Given the description of an element on the screen output the (x, y) to click on. 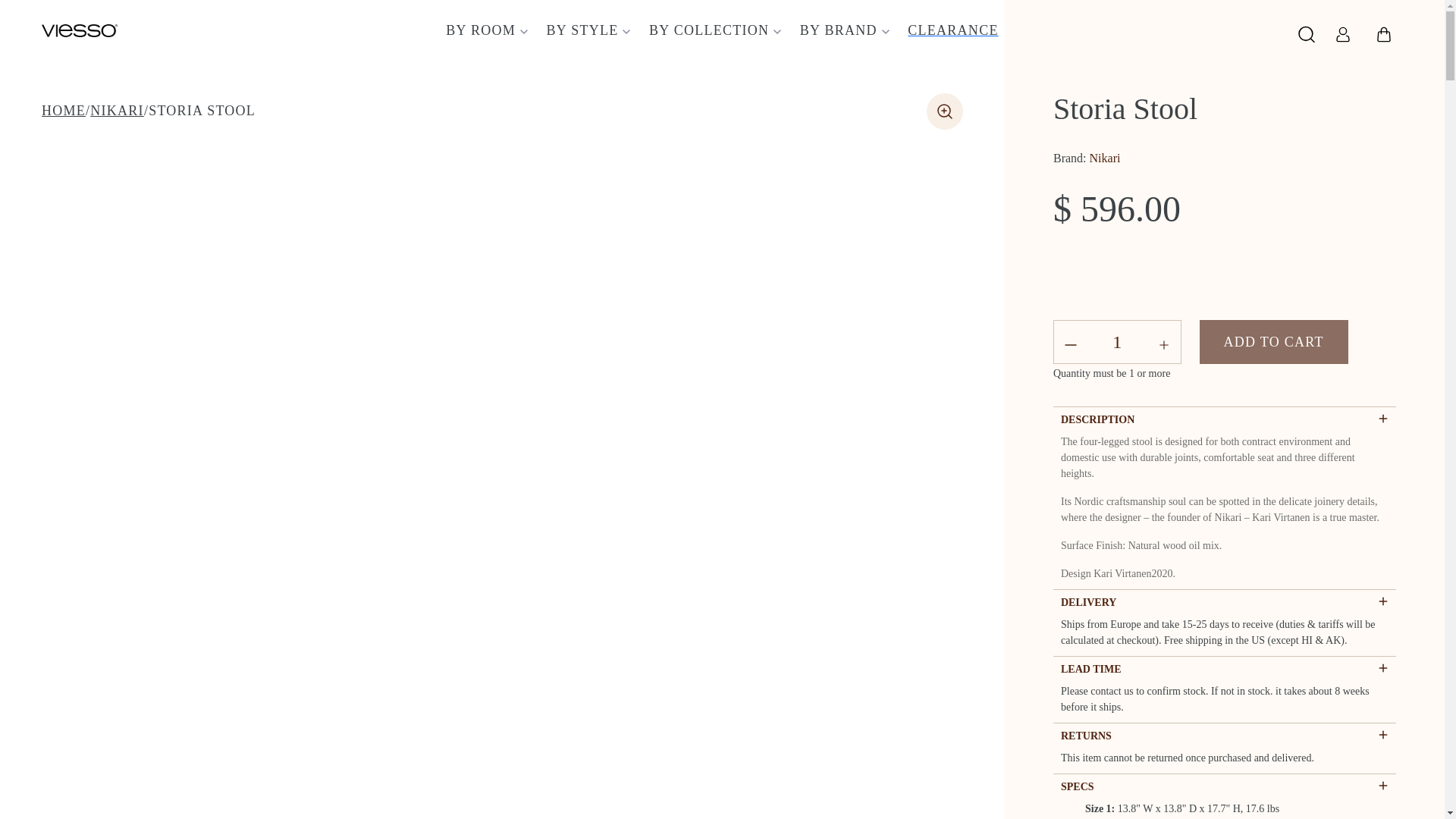
BY ROOM (486, 30)
Home (63, 110)
1 (1117, 342)
